Given the description of an element on the screen output the (x, y) to click on. 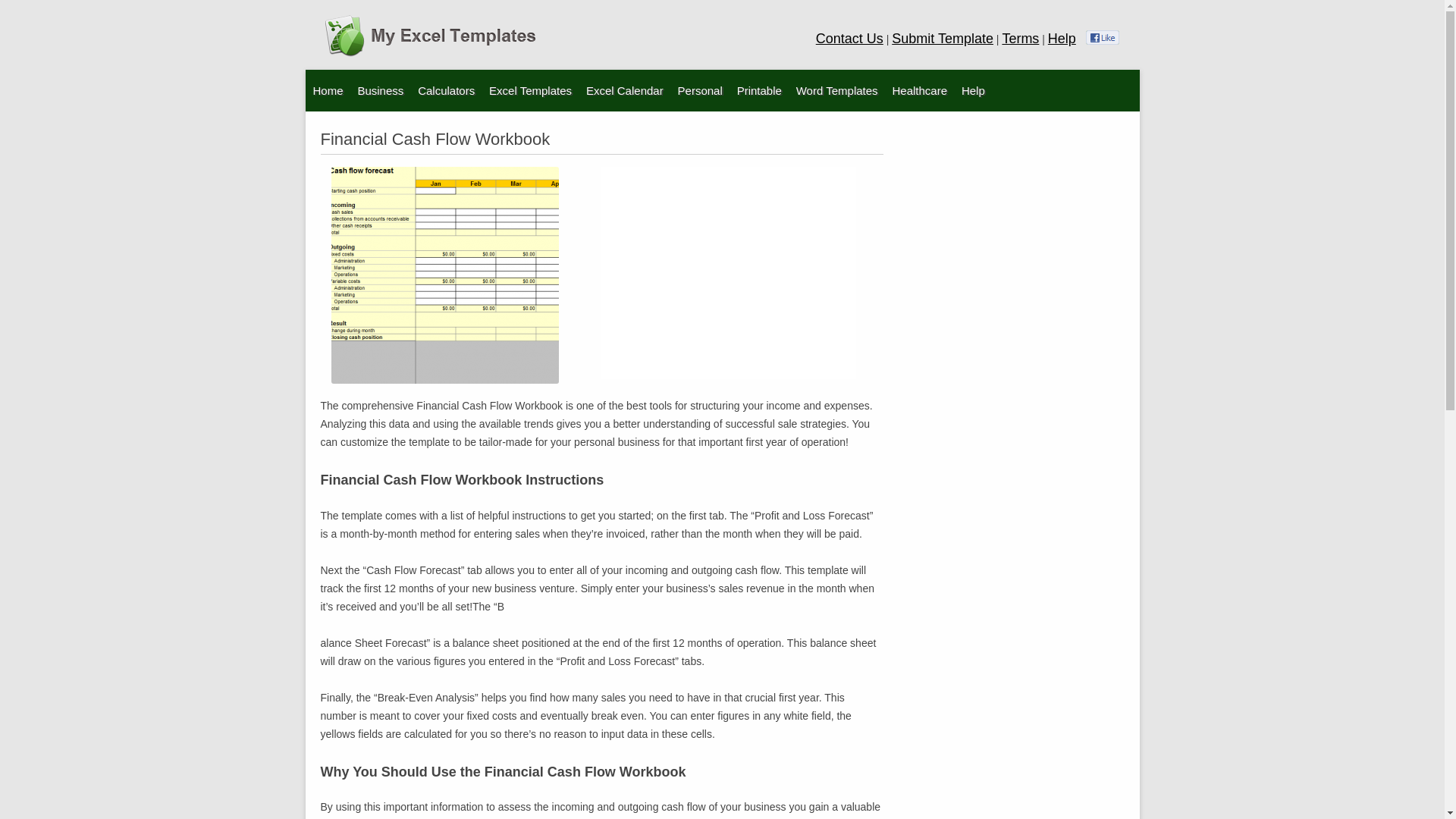
Advertisement (728, 273)
Excel Templates (530, 90)
Inventory (432, 126)
Excel Calendar (564, 126)
Terms (1020, 37)
Business (379, 90)
Personal (700, 90)
Excel Calendar (624, 90)
Calculators (445, 90)
